Given the description of an element on the screen output the (x, y) to click on. 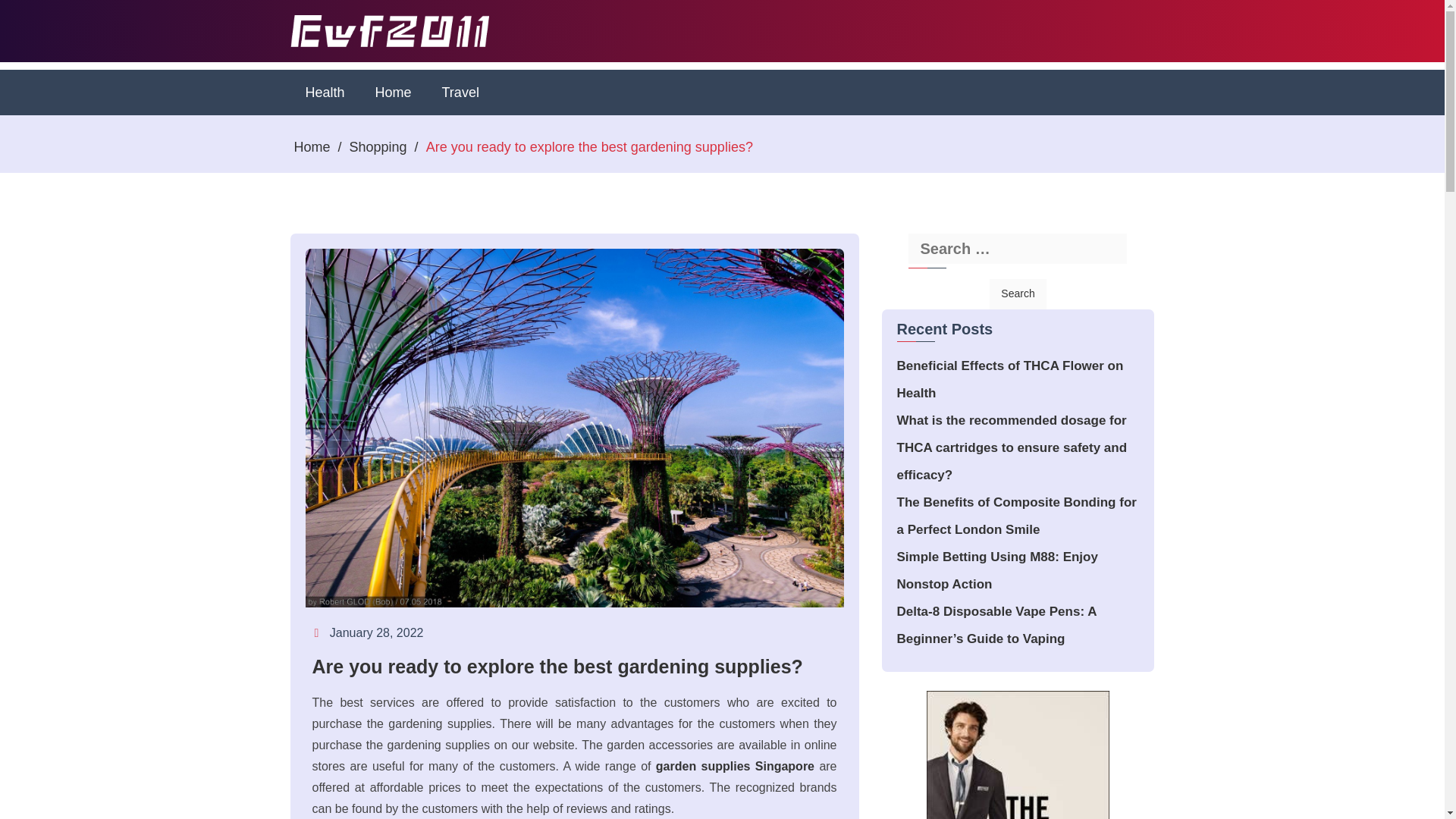
Health (324, 92)
garden supplies Singapore (734, 766)
Travel (460, 92)
Simple Betting Using M88: Enjoy Nonstop Action (996, 570)
Search (1017, 294)
Search (1017, 294)
Shopping (378, 146)
Beneficial Effects of THCA Flower on Health (1009, 379)
Travel (460, 92)
Home (392, 92)
Are you ready to explore the best gardening supplies? (575, 667)
The Benefits of Composite Bonding for a Perfect London Smile (1015, 516)
Ewf 2011 (341, 74)
Home (392, 92)
